Given the description of an element on the screen output the (x, y) to click on. 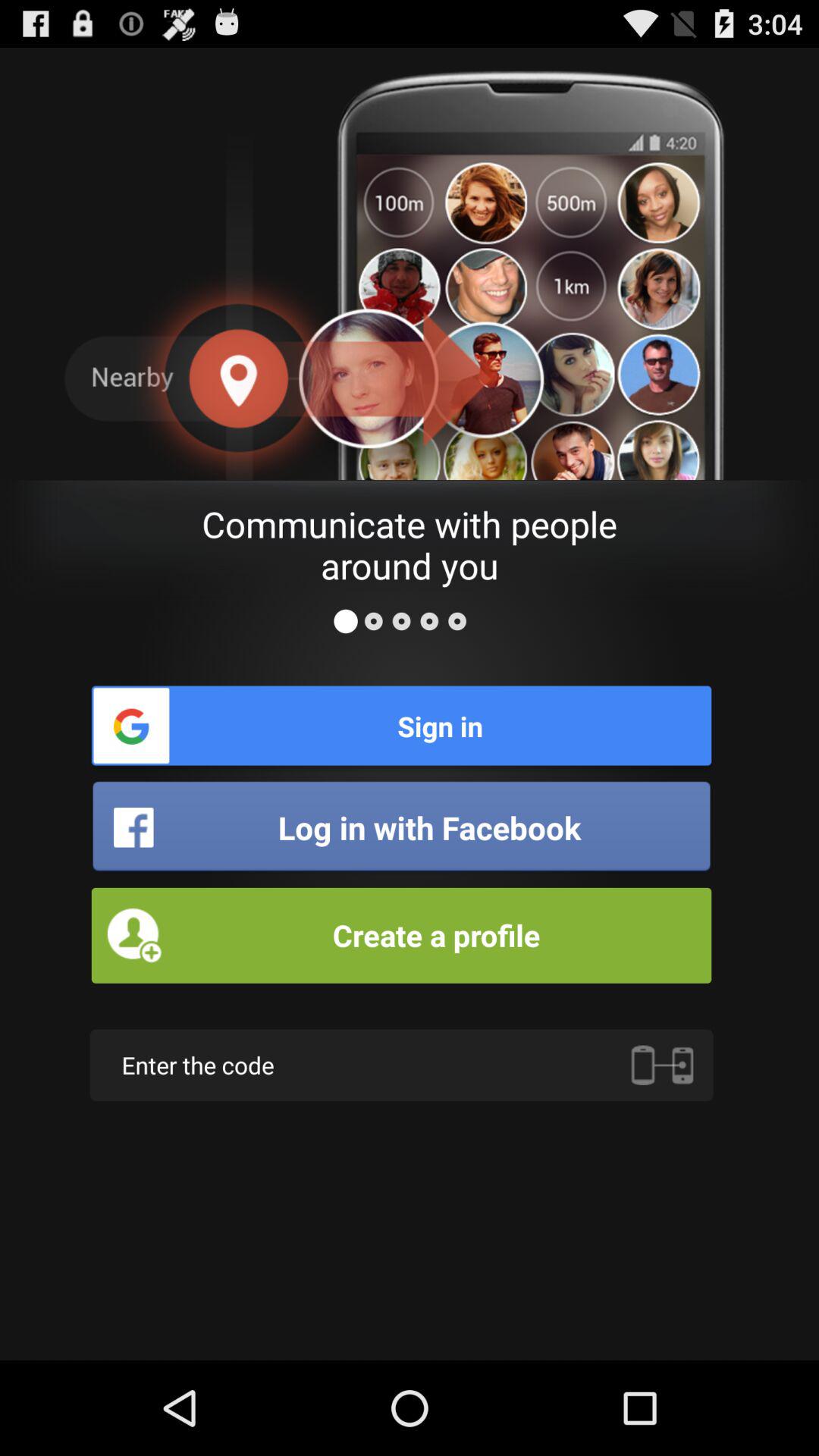
swipe until sign in (401, 725)
